Given the description of an element on the screen output the (x, y) to click on. 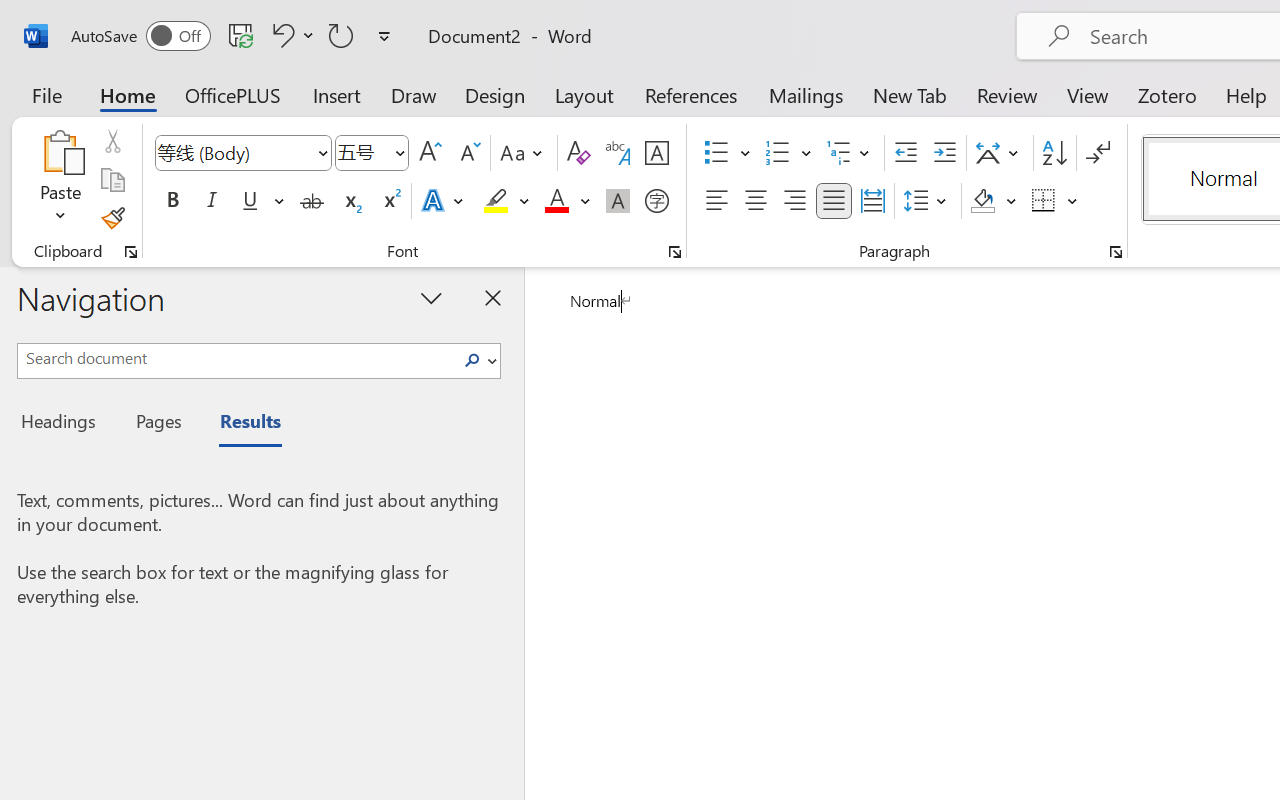
Superscript (390, 201)
Grow Font (430, 153)
AutoSave (140, 35)
Center (756, 201)
Results (240, 424)
Zotero (1166, 94)
Subscript (350, 201)
Format Painter (112, 218)
Office Clipboard... (131, 252)
Task Pane Options (431, 297)
Shrink Font (468, 153)
